Given the description of an element on the screen output the (x, y) to click on. 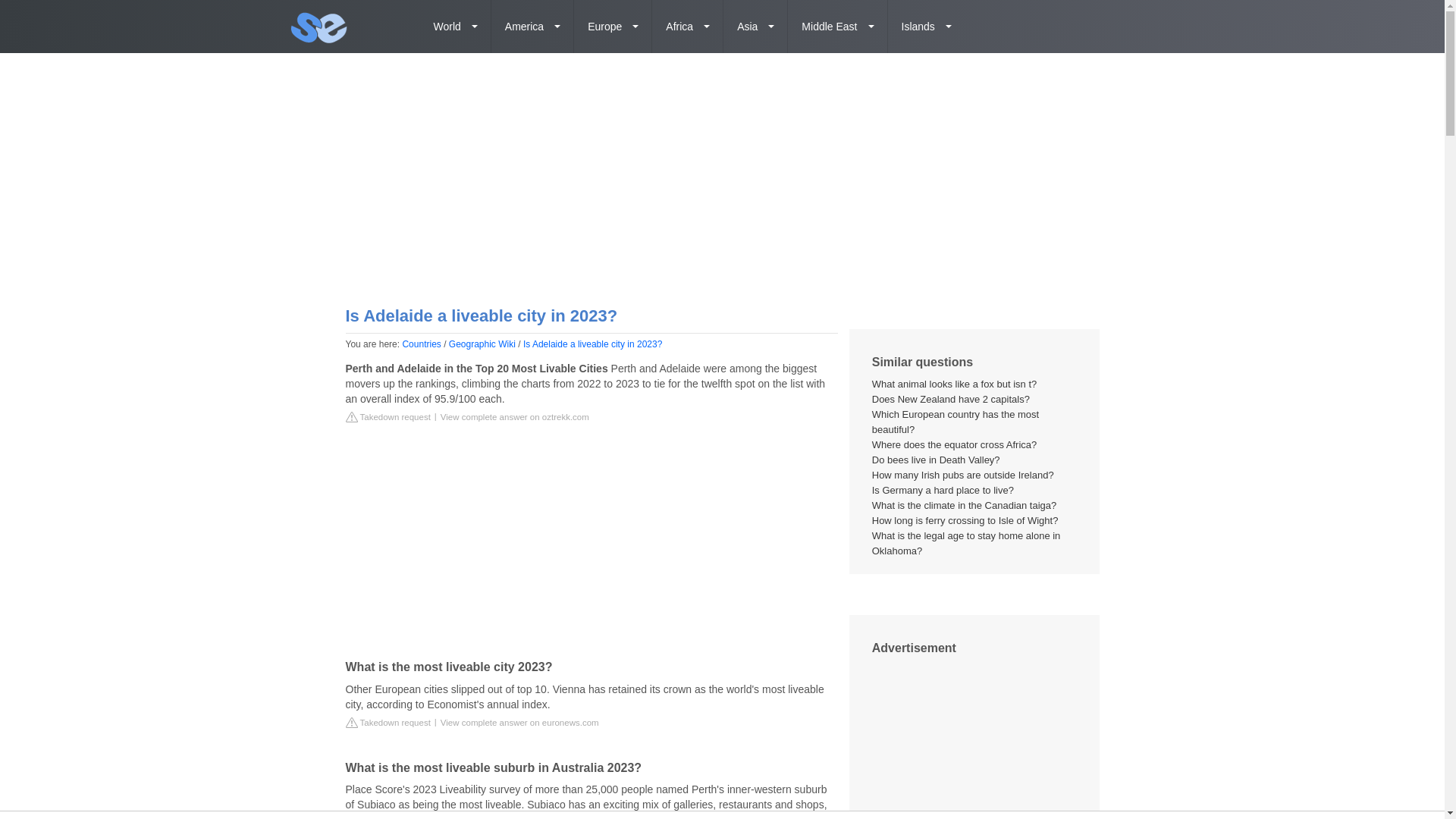
America (532, 26)
World (456, 26)
Europe (612, 26)
